Given the description of an element on the screen output the (x, y) to click on. 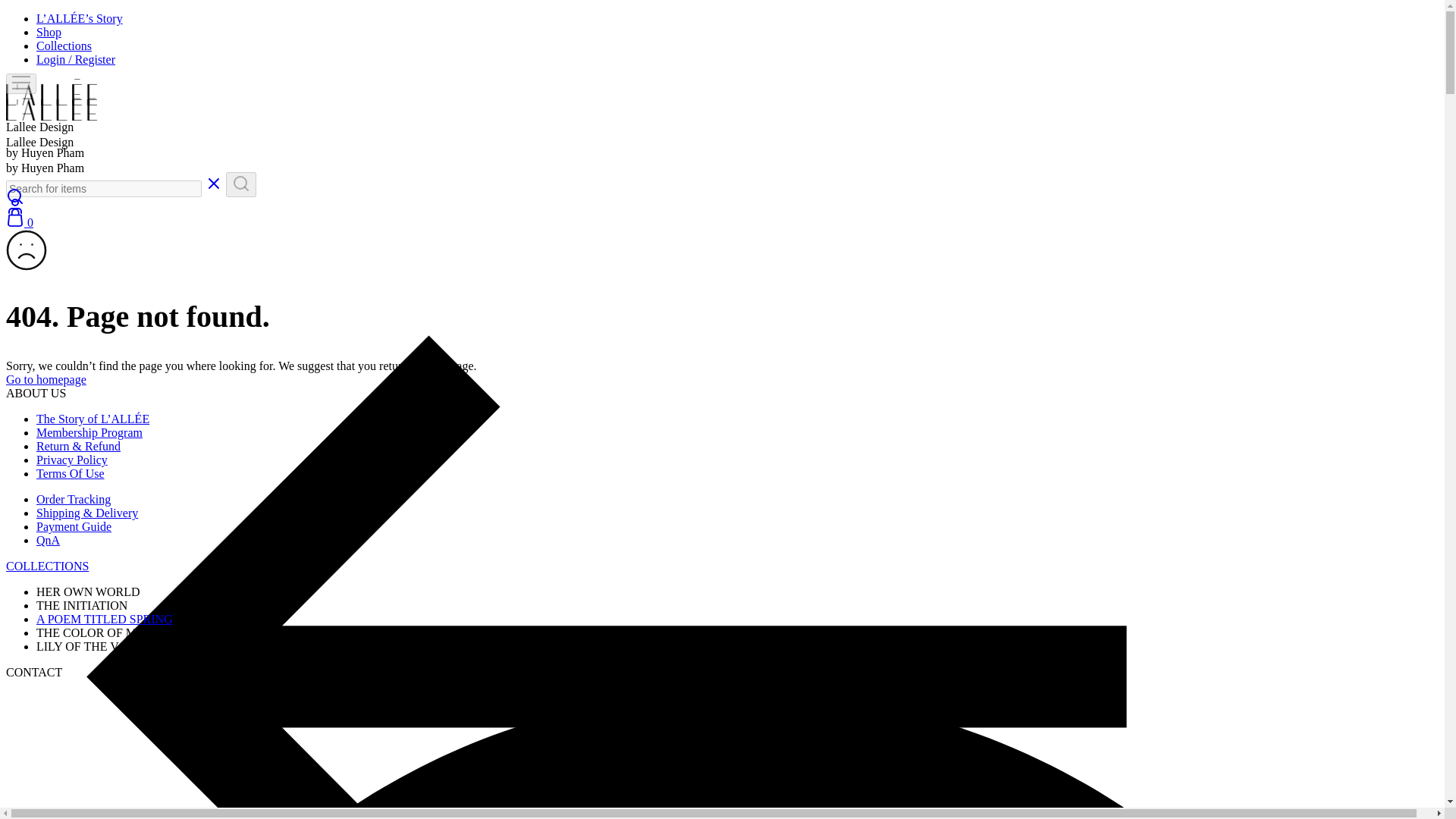
A POEM TITLED SPRING (104, 618)
QnA (47, 540)
Payment Guide (74, 526)
Collections (63, 45)
Privacy Policy (71, 459)
Order Tracking (73, 499)
0 (19, 222)
Membership Program (89, 431)
Go to homepage (45, 379)
Shop (48, 31)
